Given the description of an element on the screen output the (x, y) to click on. 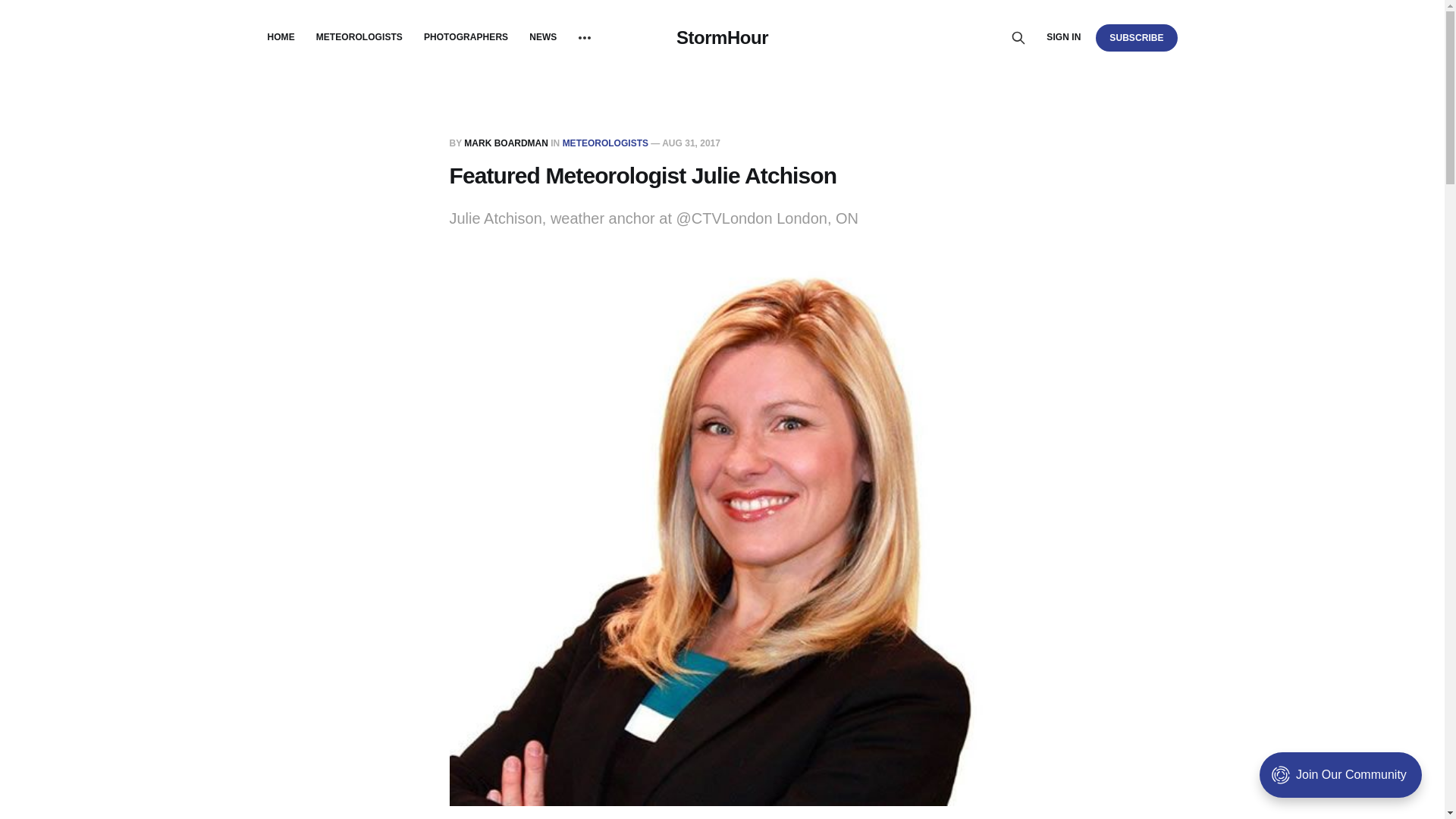
METEOROLOGISTS (604, 143)
HOME (280, 36)
METEOROLOGISTS (359, 36)
NEWS (542, 36)
MARK BOARDMAN (506, 143)
PHOTOGRAPHERS (465, 36)
SIGN IN (1063, 37)
SUBSCRIBE (1136, 37)
StormHour (722, 37)
